Given the description of an element on the screen output the (x, y) to click on. 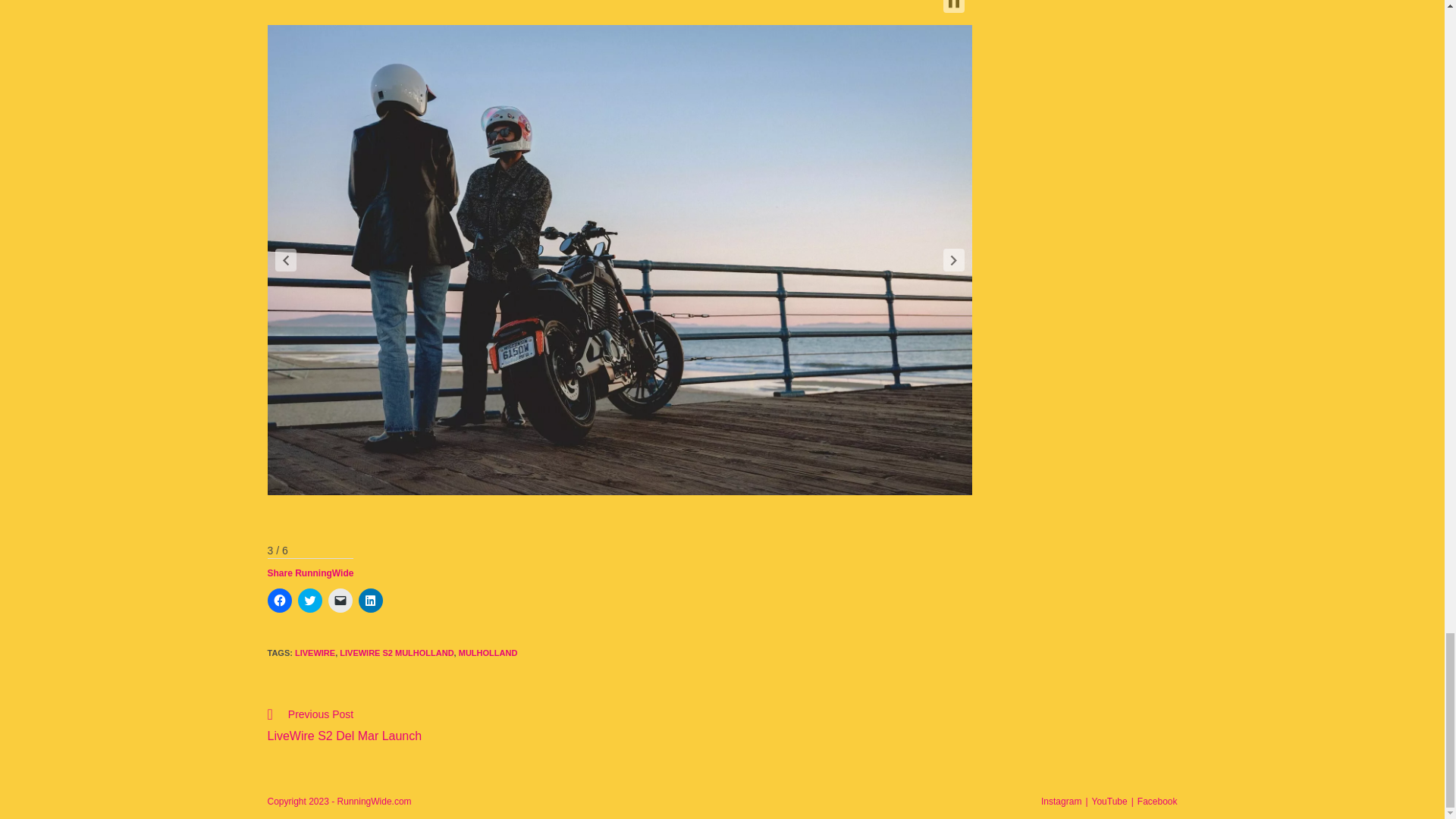
YouTube (1109, 801)
Click to share on Twitter (309, 600)
LIVEWIRE (314, 652)
Instagram (1061, 801)
Facebook (1157, 801)
Click to share on Facebook (278, 600)
MULHOLLAND (435, 726)
LIVEWIRE S2 MULHOLLAND (488, 652)
Click to share on LinkedIn (395, 652)
Click to email a link to a friend (369, 600)
